Given the description of an element on the screen output the (x, y) to click on. 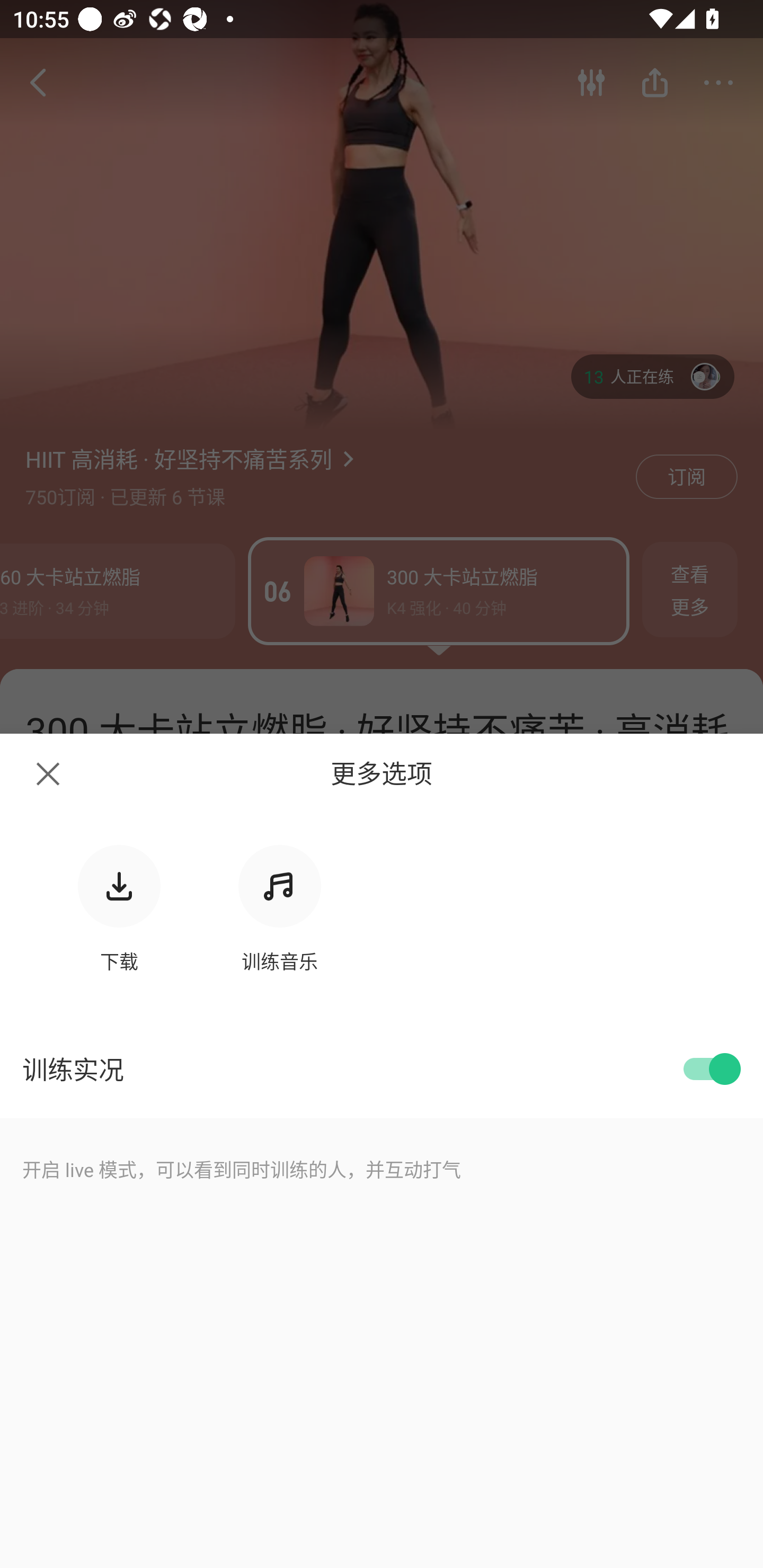
ON (708, 1069)
